Given the description of an element on the screen output the (x, y) to click on. 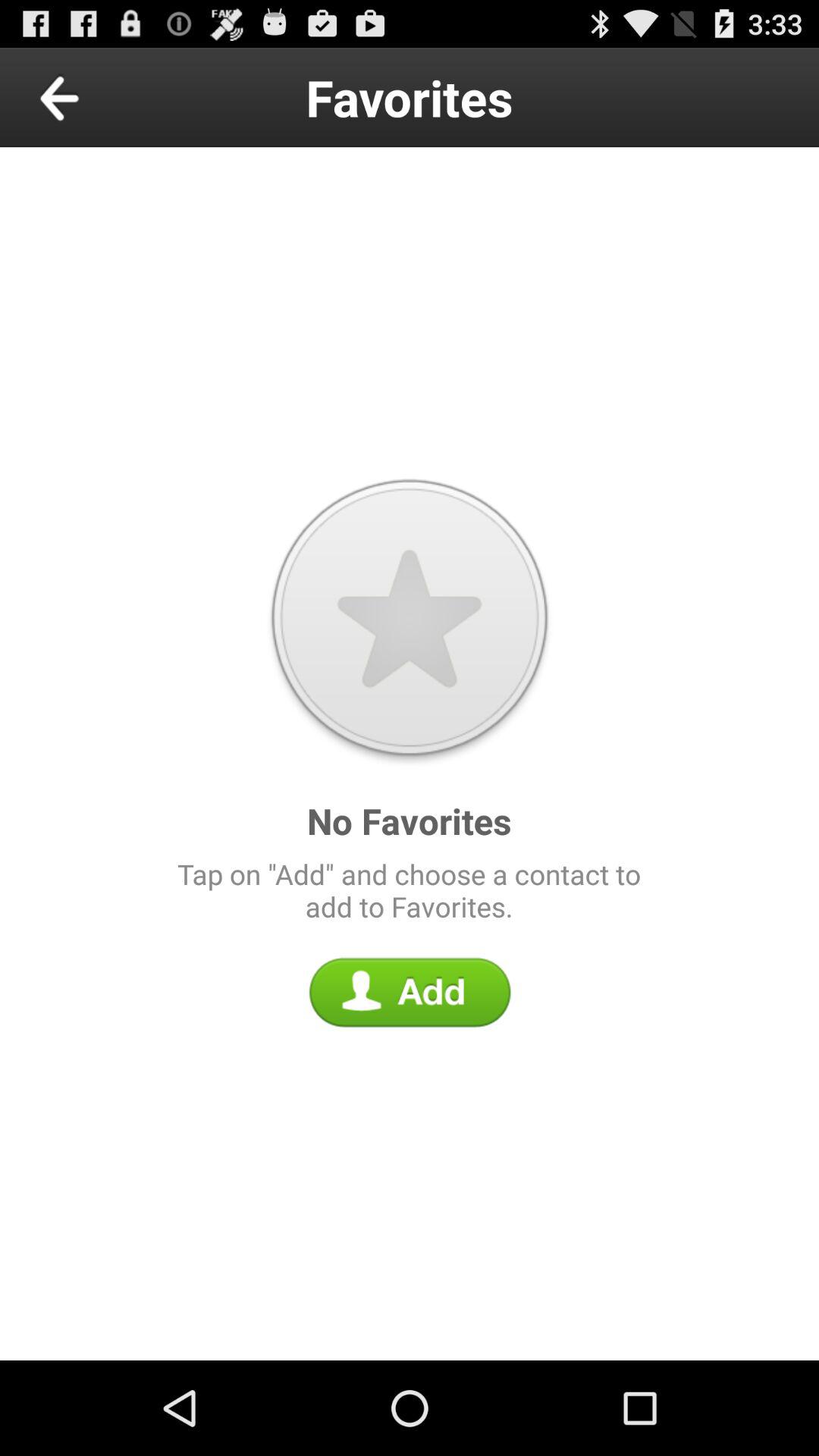
tap item next to the favorites app (94, 97)
